Given the description of an element on the screen output the (x, y) to click on. 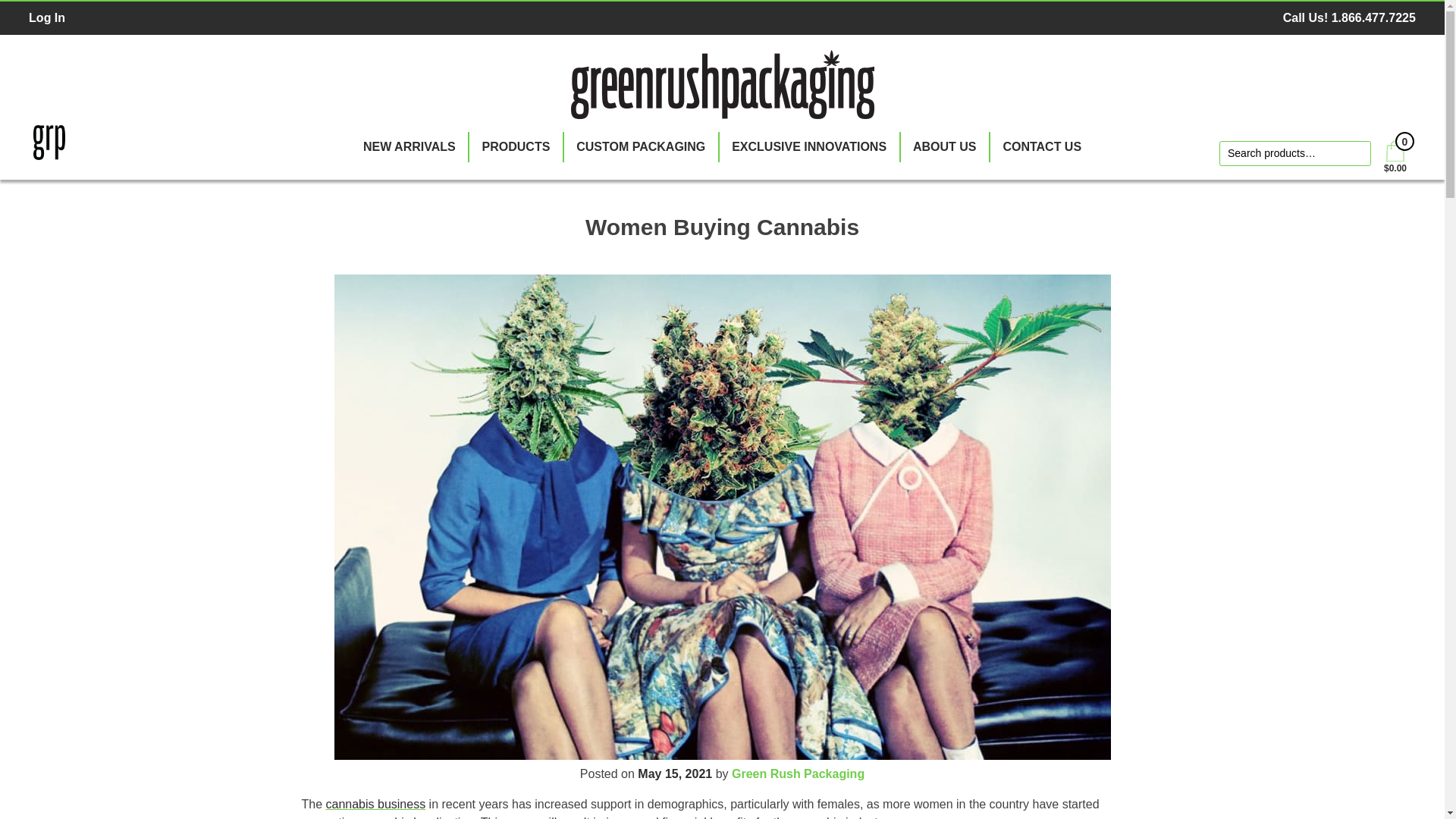
PRODUCTS (515, 147)
NEW ARRIVALS (408, 147)
Log In (47, 17)
Call Us! 1.866.477.7225 (1348, 18)
